Given the description of an element on the screen output the (x, y) to click on. 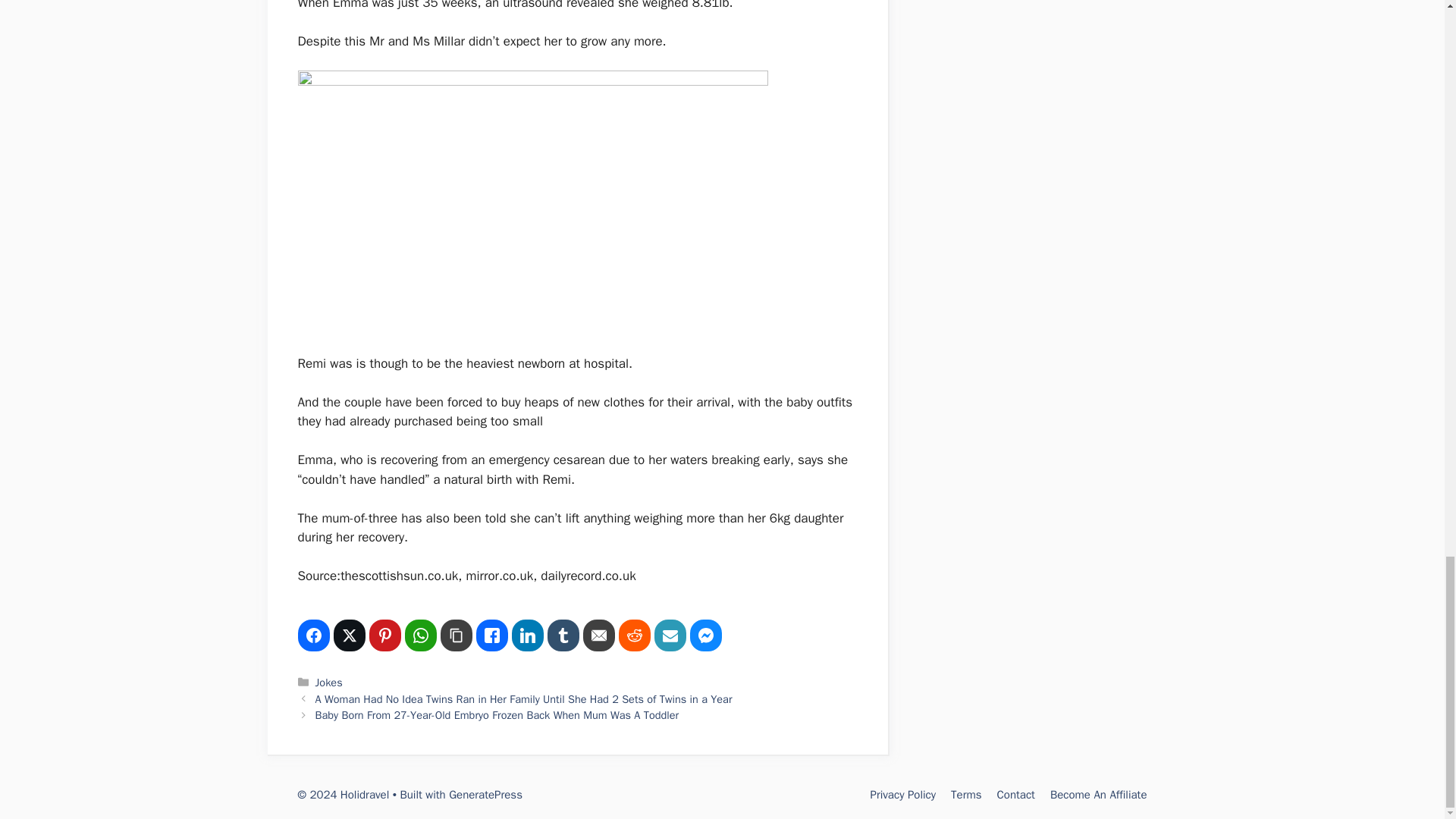
Share on Facebook (313, 635)
Jokes (328, 682)
